Given the description of an element on the screen output the (x, y) to click on. 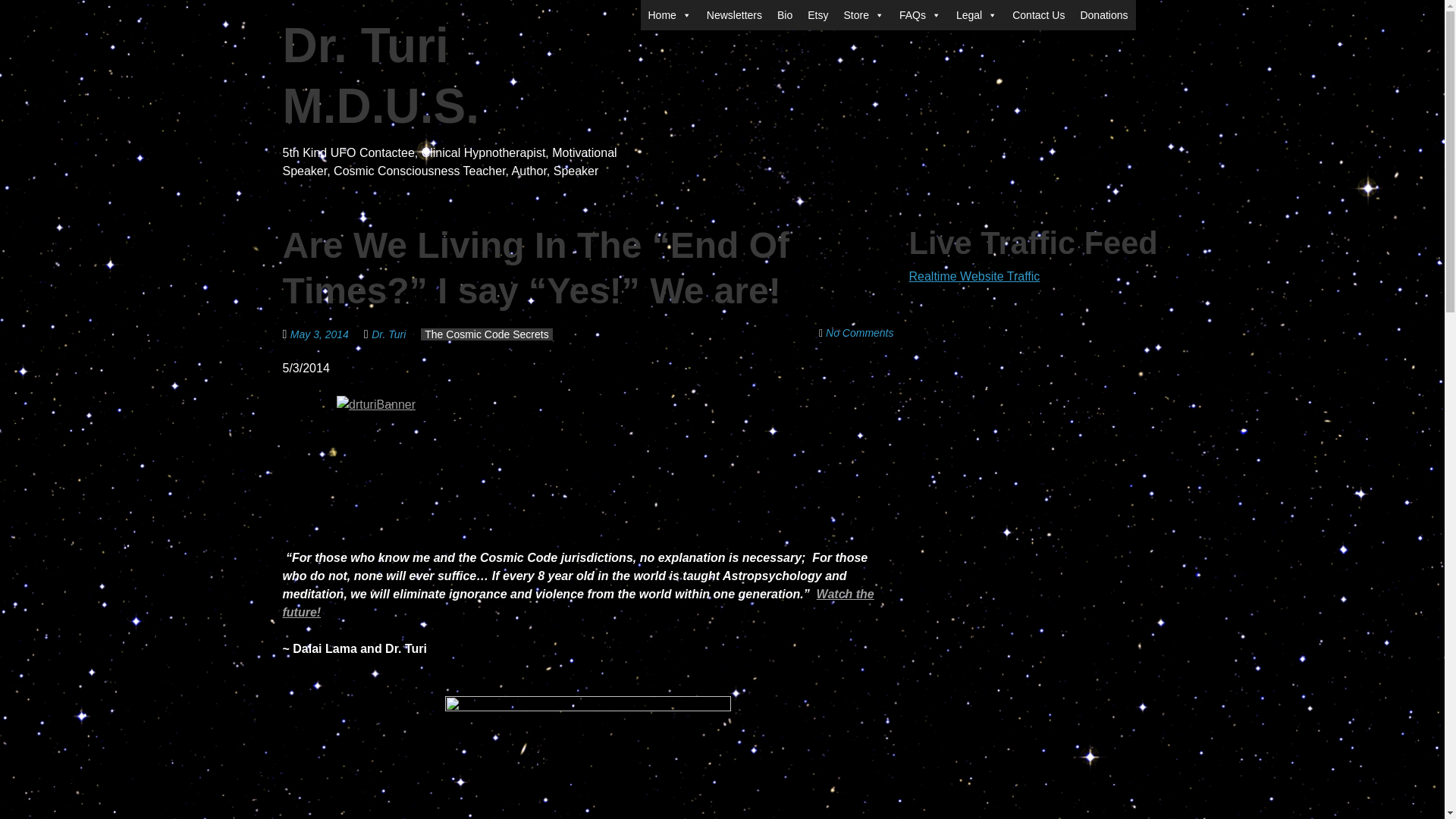
Skip to content (680, 9)
Etsy (817, 15)
Newsletters (734, 15)
Store (863, 15)
Bio (784, 15)
Skip to content (680, 9)
Dr. Turi M.D.U.S. (380, 75)
Home (669, 15)
